Given the description of an element on the screen output the (x, y) to click on. 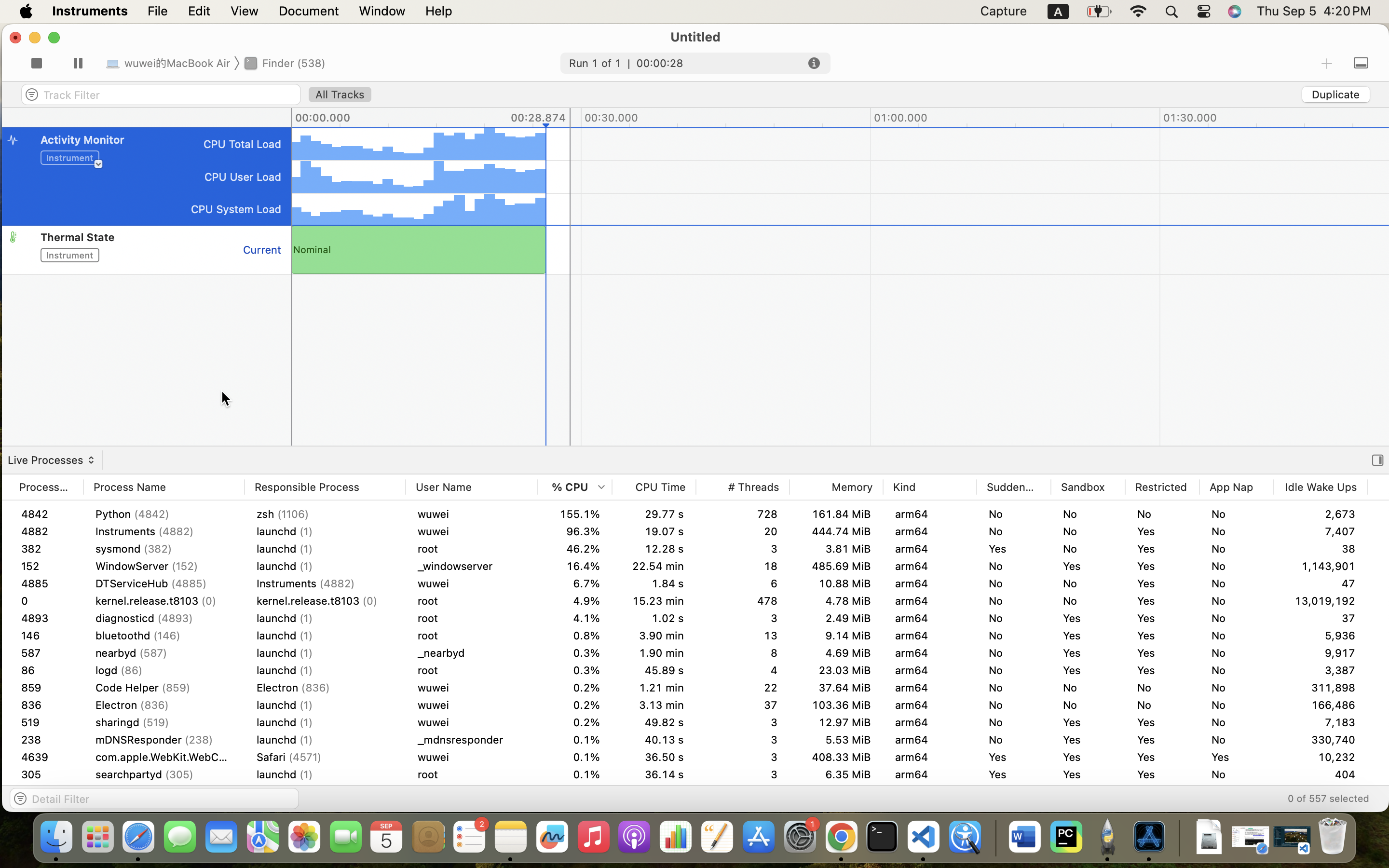
_locationd Element type: AXStaticText (471, 722)
WindowManager (488) Element type: AXStaticText (163, 652)
Notes (2391) Element type: AXStaticText (324, 808)
4882 Element type: AXStaticText (46, 531)
8 Element type: AXStaticText (742, 670)
